Given the description of an element on the screen output the (x, y) to click on. 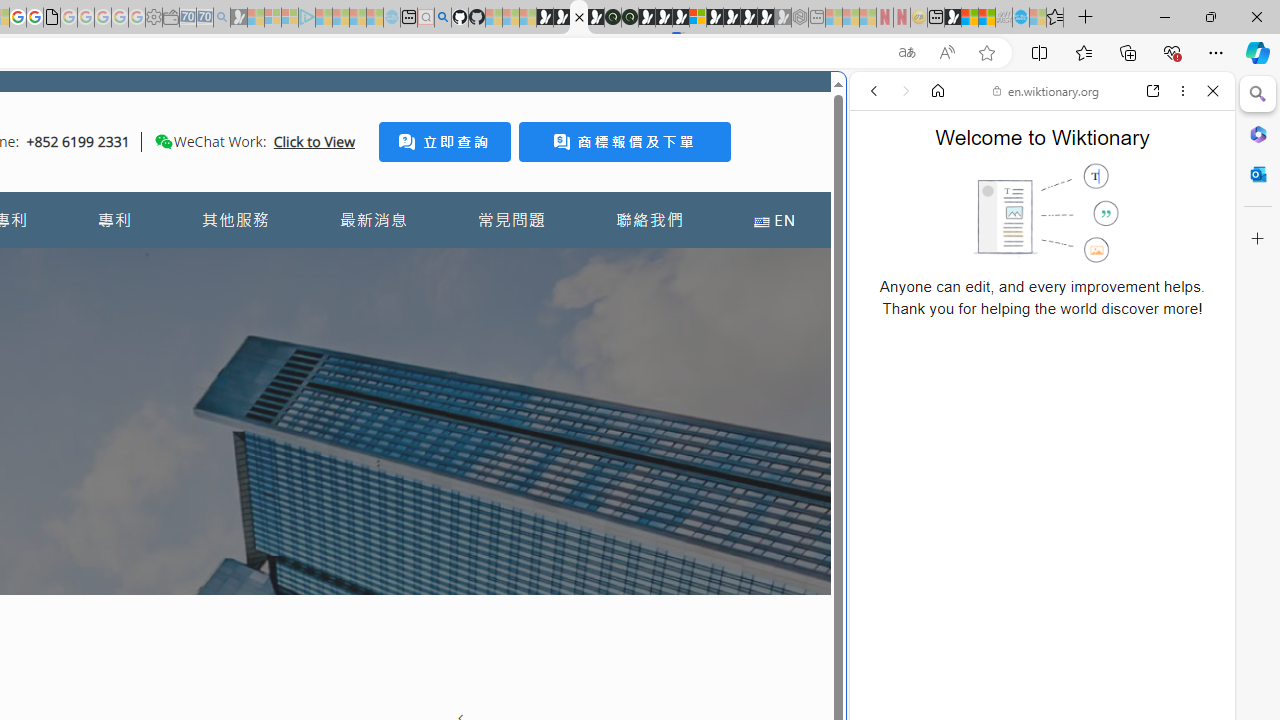
github - Search (442, 17)
